Given the description of an element on the screen output the (x, y) to click on. 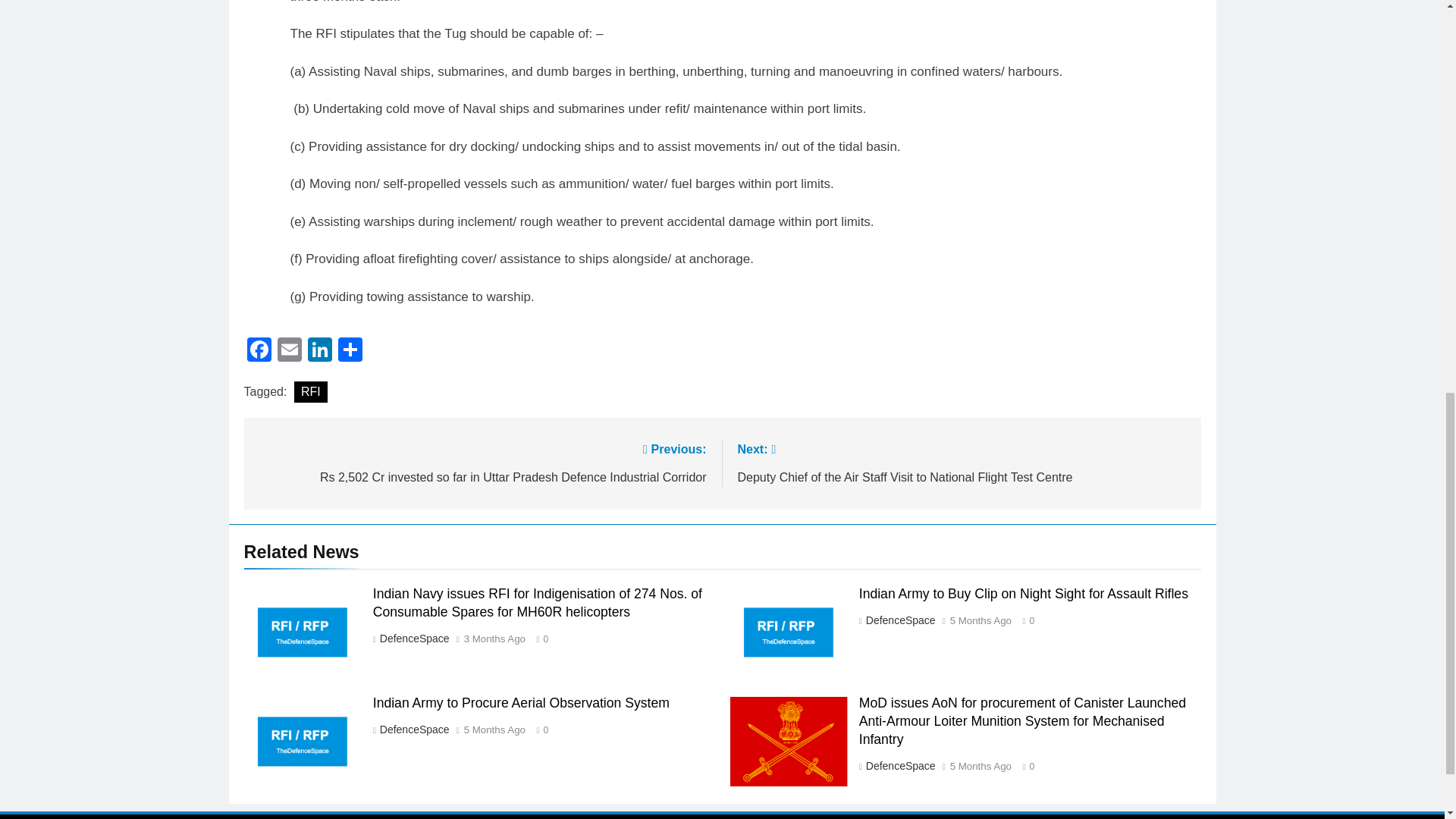
Facebook (259, 351)
LinkedIn (319, 351)
Facebook (259, 351)
Email (289, 351)
Email (289, 351)
LinkedIn (319, 351)
